Given the description of an element on the screen output the (x, y) to click on. 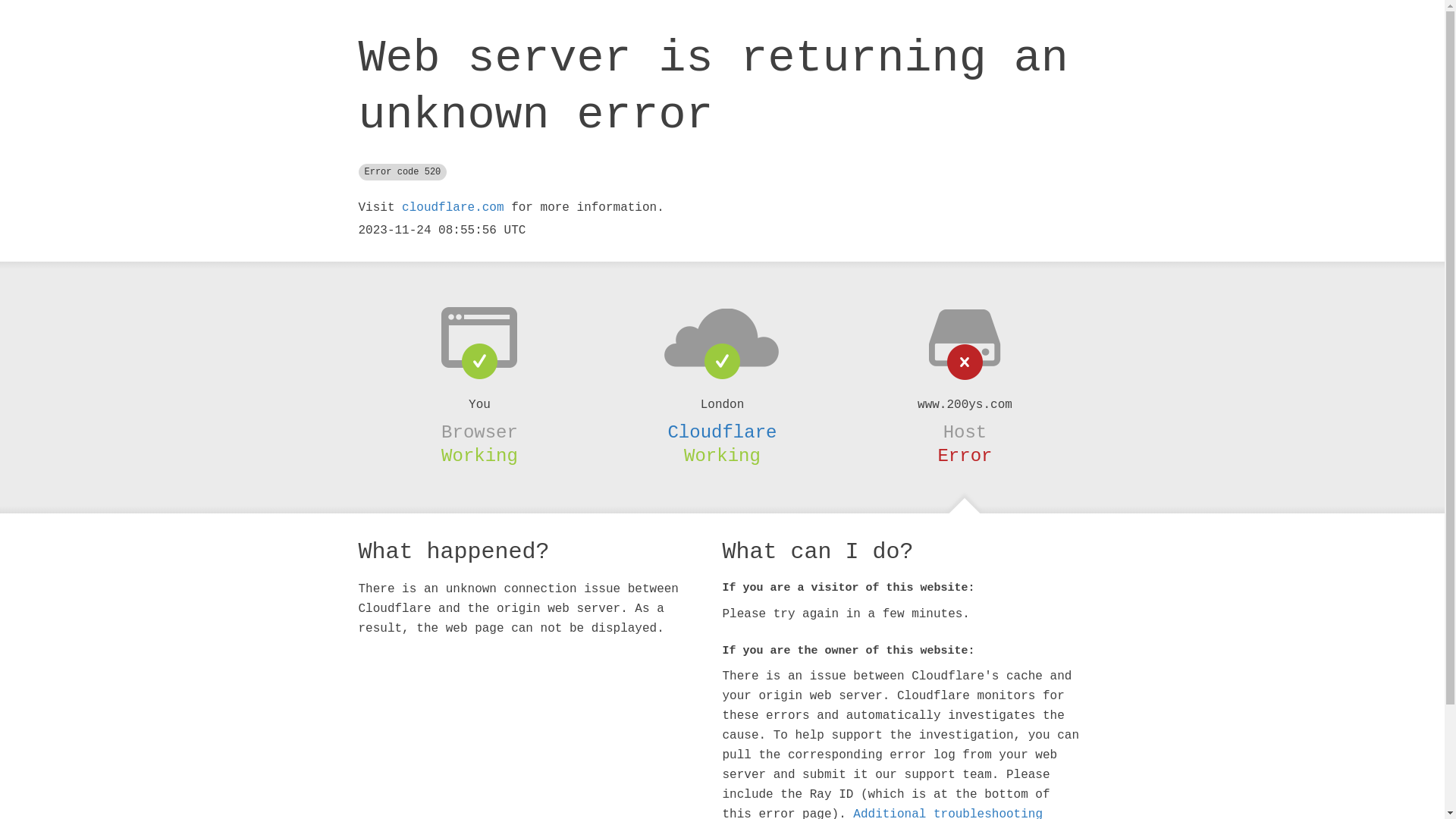
Cloudflare Element type: text (721, 432)
cloudflare.com Element type: text (452, 207)
